Given the description of an element on the screen output the (x, y) to click on. 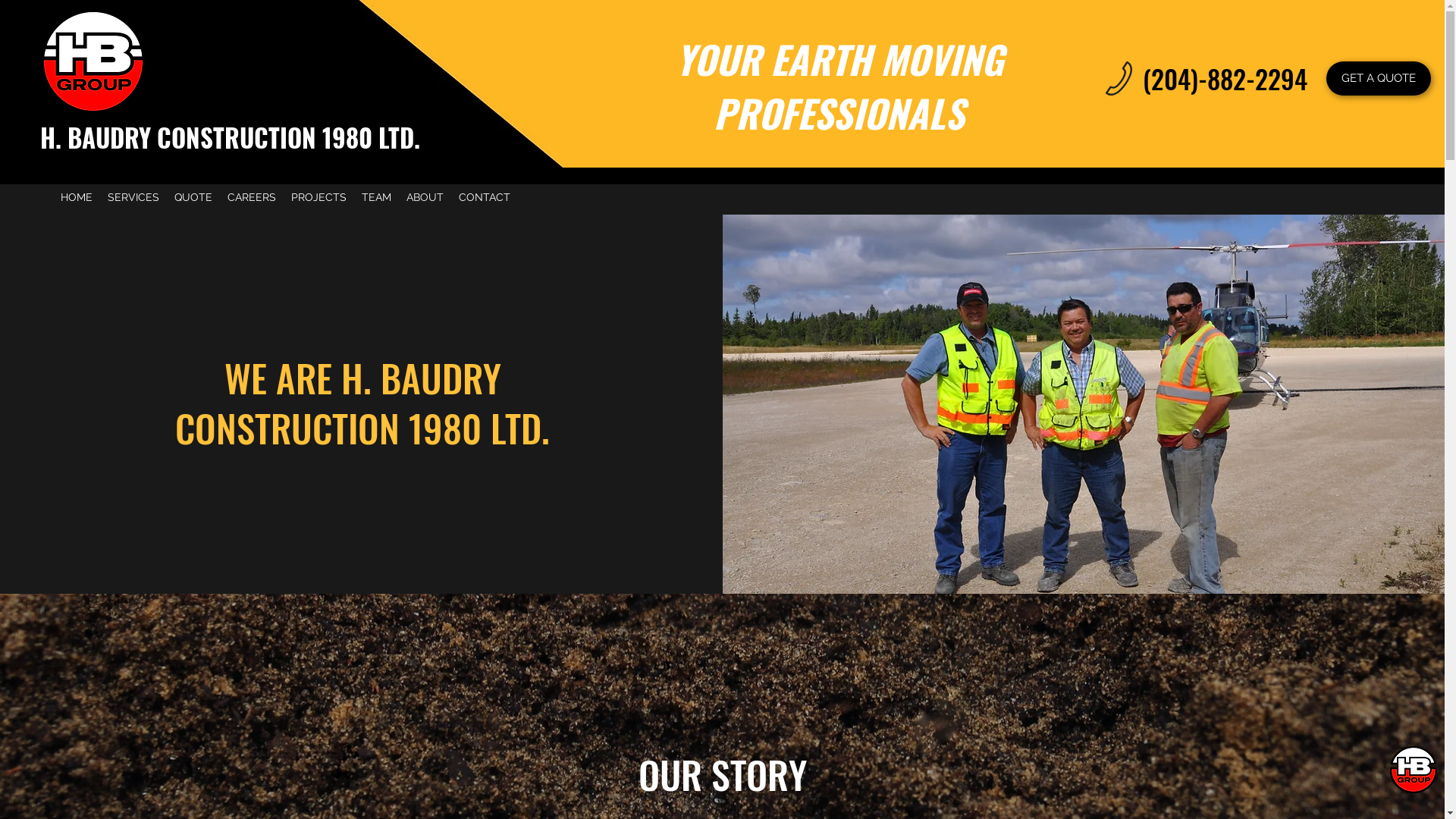
HOME Element type: text (76, 197)
CONTACT Element type: text (484, 197)
SERVICES Element type: text (133, 197)
ABOUT Element type: text (424, 197)
TEAM Element type: text (376, 197)
QUOTE Element type: text (192, 197)
GET A QUOTE Element type: text (1378, 78)
CAREERS Element type: text (251, 197)
PROJECTS Element type: text (318, 197)
